Given the description of an element on the screen output the (x, y) to click on. 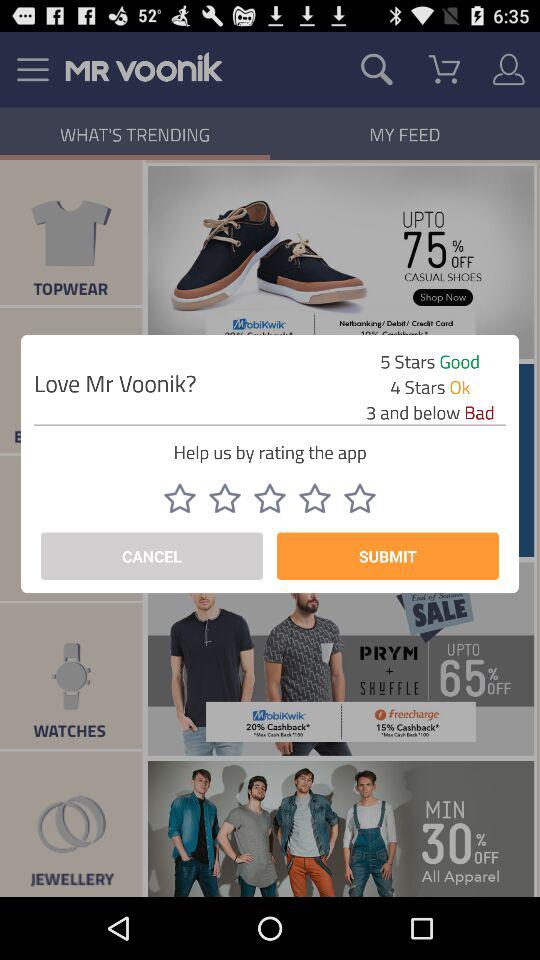
tap the item below the help us by icon (359, 498)
